Given the description of an element on the screen output the (x, y) to click on. 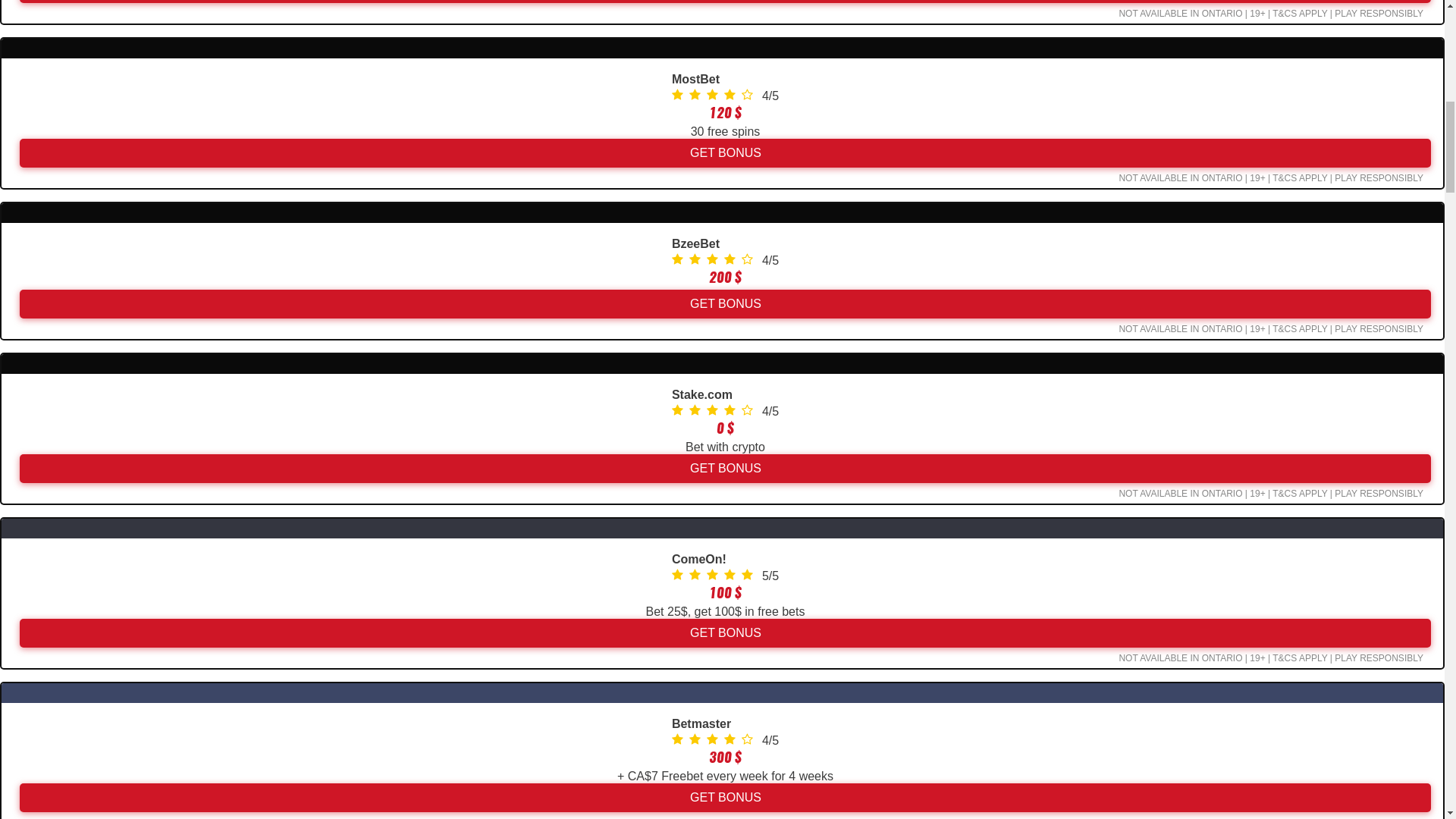
GET BONUS (725, 152)
GET BONUS (725, 797)
GET BONUS (725, 468)
GET BONUS (725, 303)
GET BONUS (725, 633)
